Given the description of an element on the screen output the (x, y) to click on. 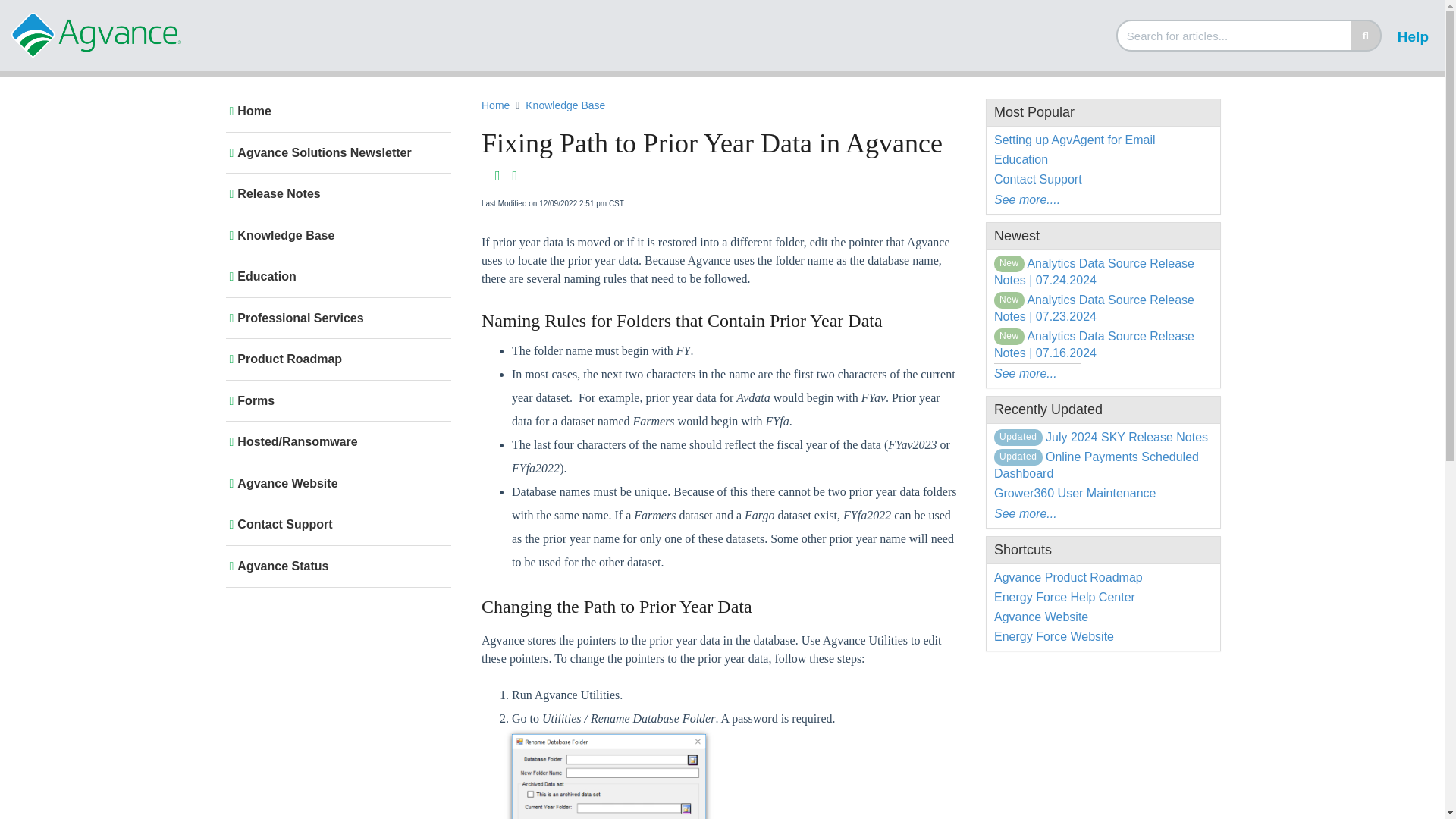
Knowledge Base (565, 105)
Agvance Solutions Newsletter (334, 153)
Agvance Website (334, 483)
Product Roadmap (334, 359)
Search (1235, 35)
Home (495, 105)
Knowledge Base (566, 105)
Knowledge Base (334, 235)
Agvance Status (334, 566)
Contact Support (334, 524)
Download PDF (497, 175)
Professional Services (334, 318)
Home (334, 111)
Education (334, 276)
Forms (334, 401)
